Given the description of an element on the screen output the (x, y) to click on. 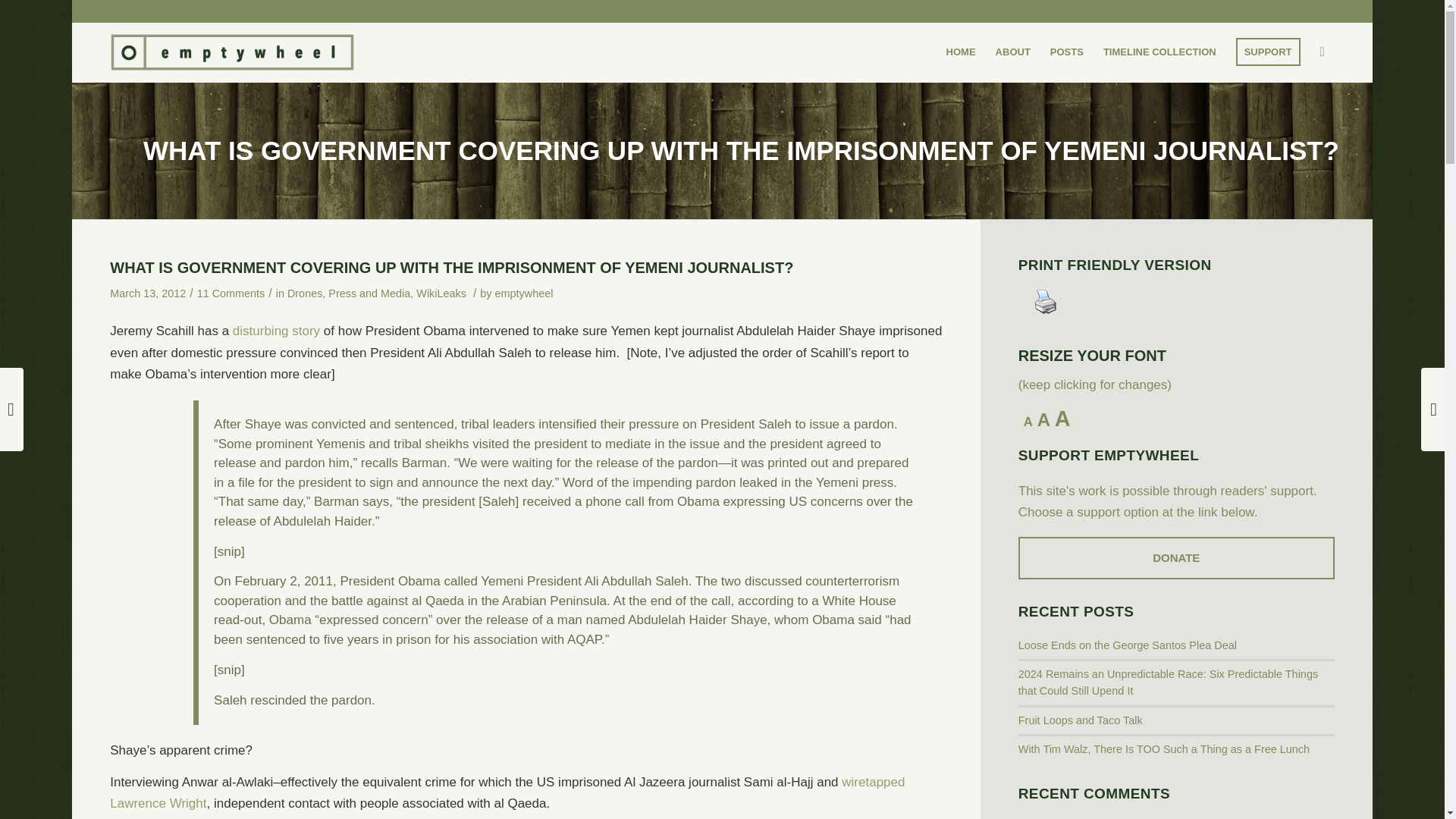
Logo Web (232, 52)
disturbing story (276, 330)
wiretapped Lawrence Wright (507, 792)
11 Comments (230, 293)
Drones (303, 293)
emptywheel (524, 295)
Print Content (1045, 301)
Posts by emptywheel (524, 295)
ABOUT (1013, 52)
TIMELINE COLLECTION (1159, 52)
